Given the description of an element on the screen output the (x, y) to click on. 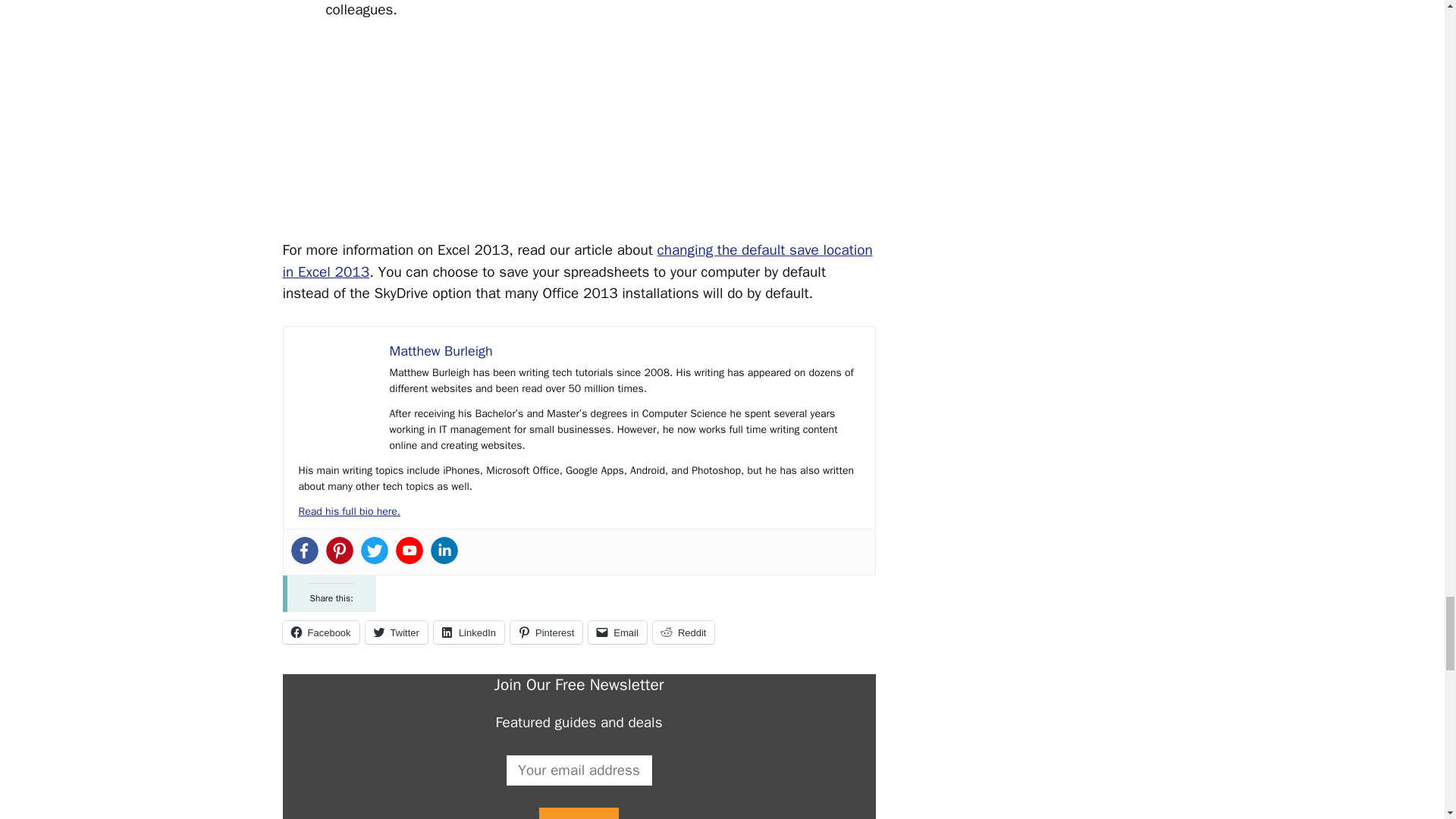
Twitter (396, 631)
Twitter (374, 550)
Youtube (409, 550)
Email (617, 631)
Reddit (683, 631)
Linkedin (444, 550)
Facebook (304, 550)
Facebook (320, 631)
How to Create a Pivot Table in Excel 2013 7 (336, 379)
Click to share on Facebook (320, 631)
Sign up (577, 813)
Sign up (577, 813)
changing the default save location in Excel 2013 (577, 260)
Pinterest (546, 631)
LinkedIn (468, 631)
